Given the description of an element on the screen output the (x, y) to click on. 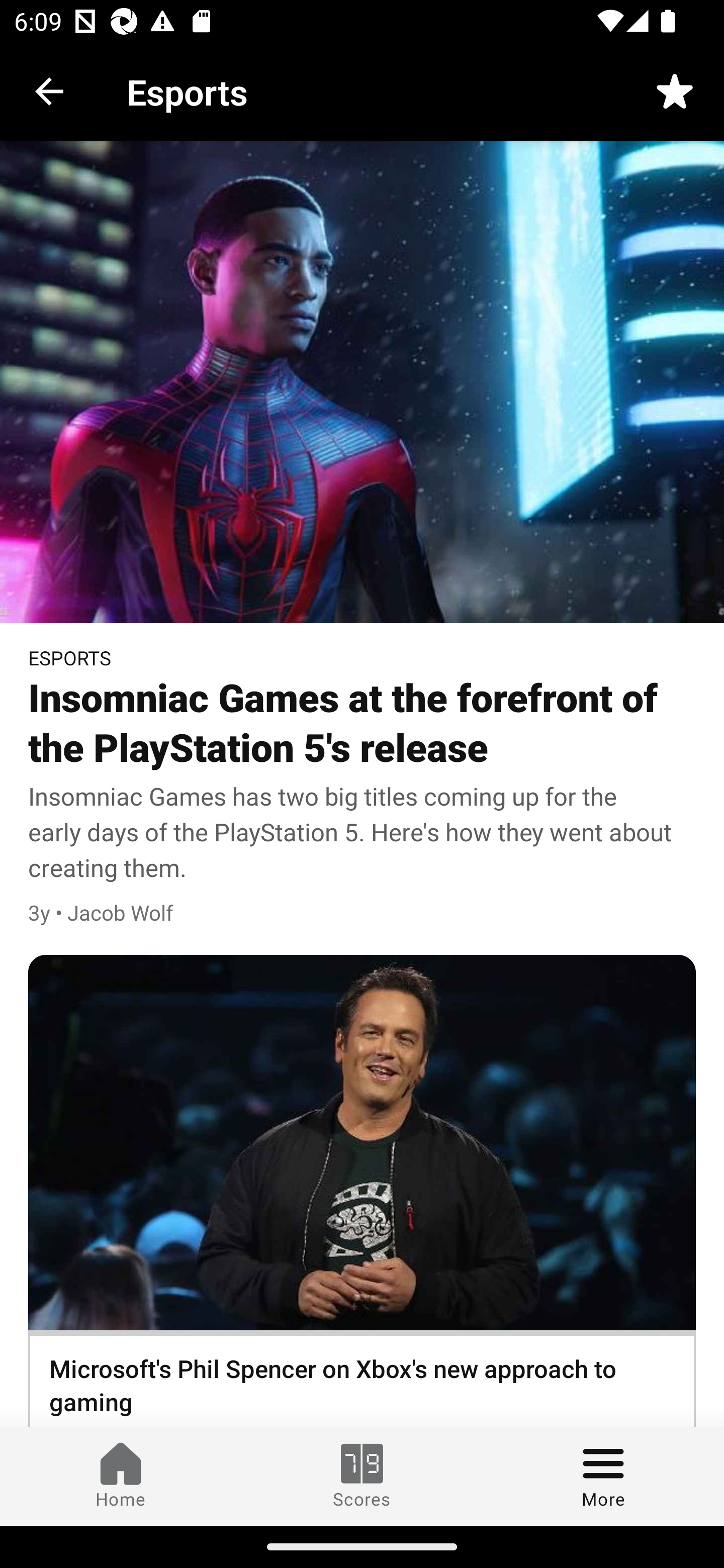
back.button (49, 90)
Favorite toggle (674, 90)
Home (120, 1475)
Scores (361, 1475)
